Given the description of an element on the screen output the (x, y) to click on. 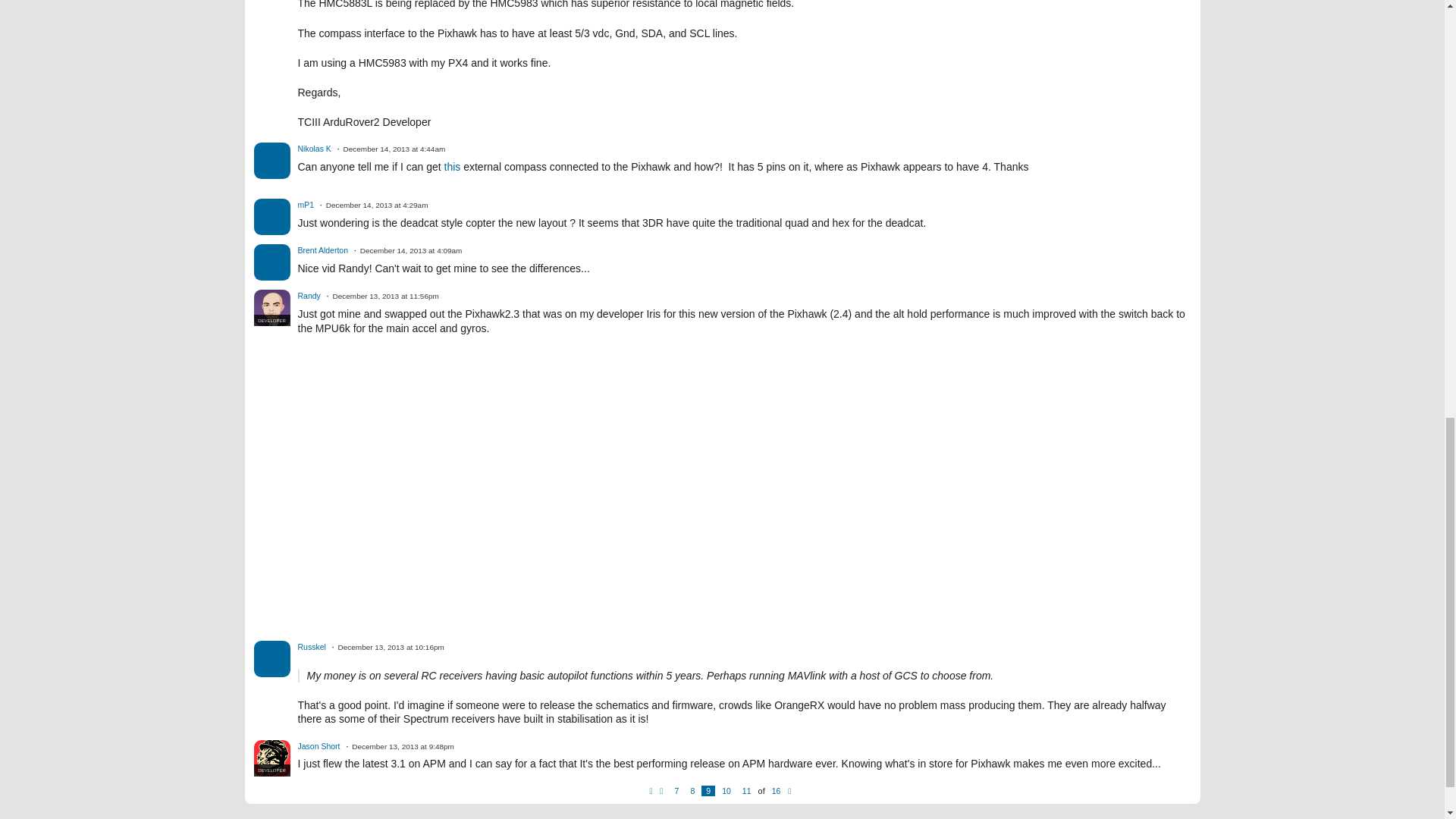
Next (790, 790)
First (653, 790)
Previous (663, 790)
